Given the description of an element on the screen output the (x, y) to click on. 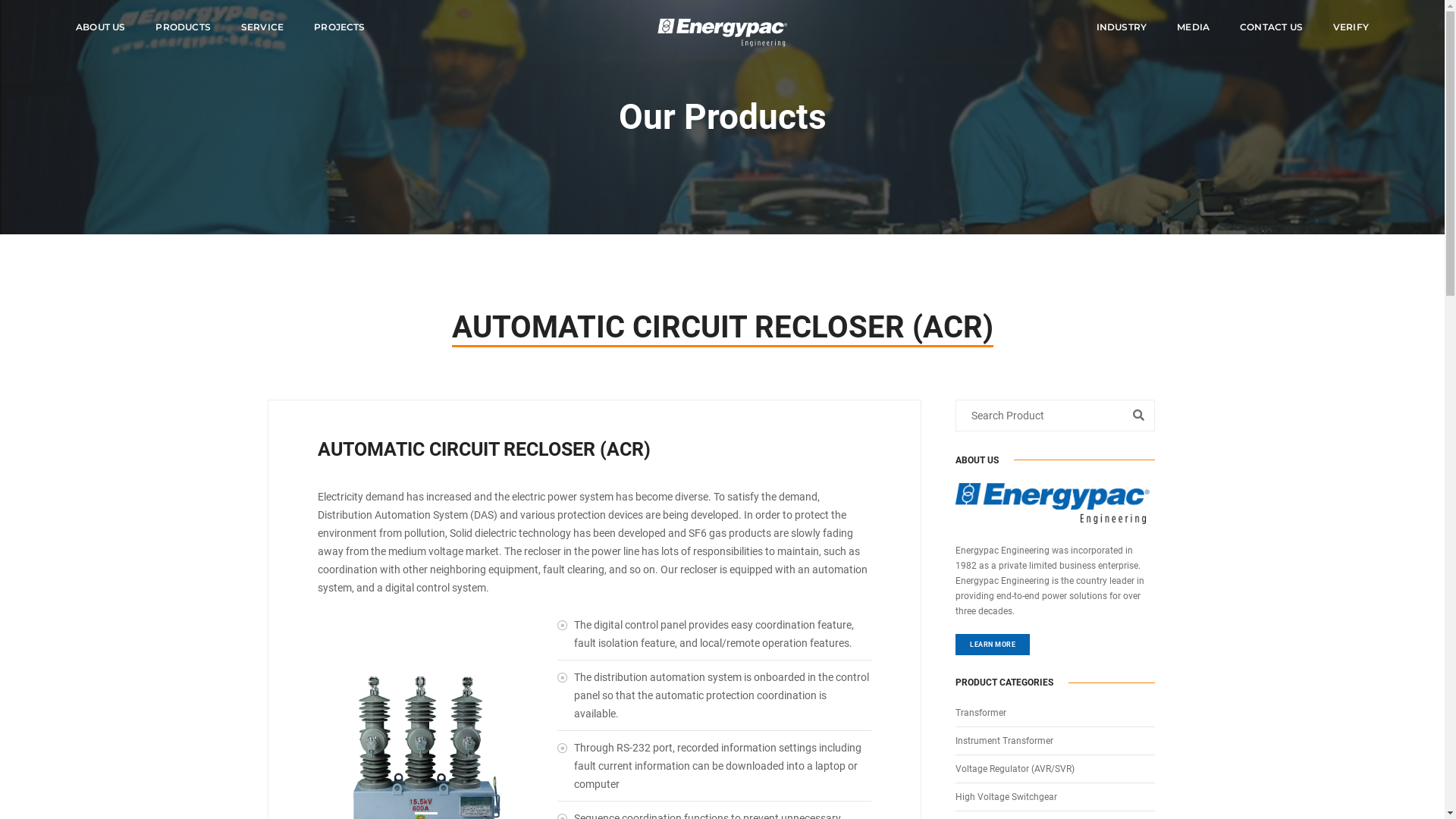
VERIFY Element type: text (1350, 27)
CONTACT US Element type: text (1270, 27)
Instrument Transformer Element type: text (1004, 740)
PROJECTS Element type: text (338, 27)
SERVICE Element type: text (262, 27)
ENERGYPAC Element type: hover (722, 32)
High Voltage Switchgear Element type: text (1006, 796)
INDUSTRY Element type: text (1121, 27)
LEARN MORE Element type: text (992, 644)
Transformer Element type: text (980, 712)
Voltage Regulator (AVR/SVR) Element type: text (1014, 768)
ABOUT US Element type: text (100, 27)
PRODUCTS Element type: text (182, 27)
MEDIA Element type: text (1192, 27)
